Given the description of an element on the screen output the (x, y) to click on. 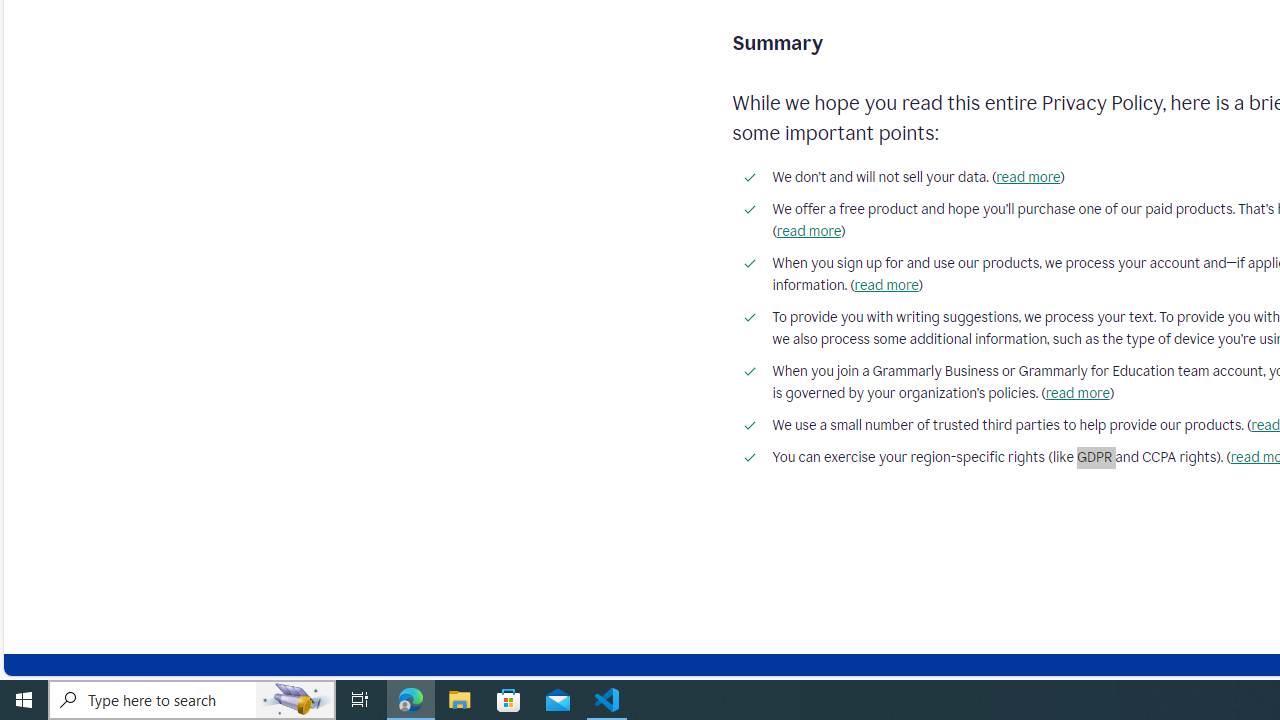
read more (1076, 393)
